Given the description of an element on the screen output the (x, y) to click on. 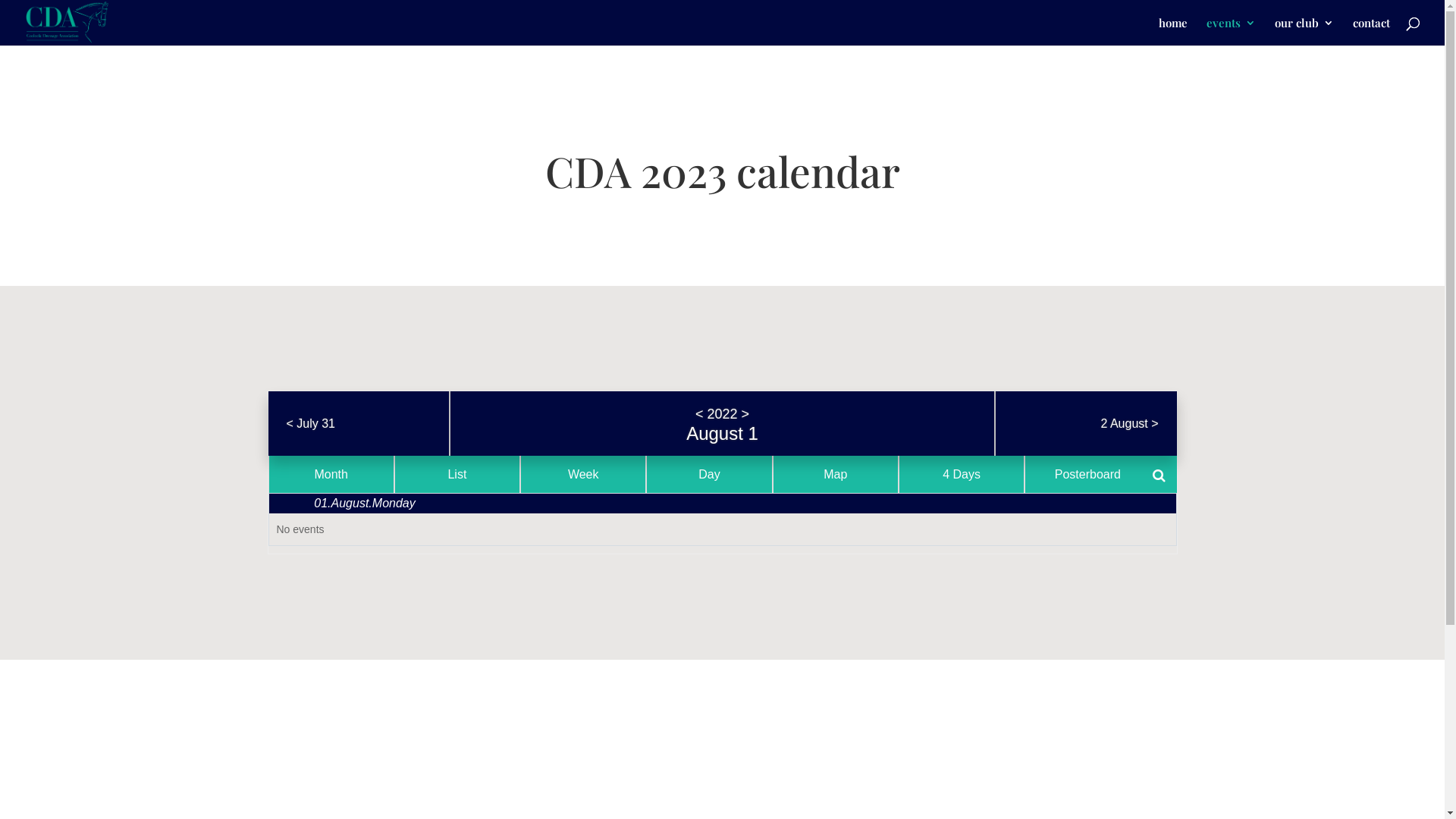
contact Element type: text (1371, 31)
our club Element type: text (1303, 31)
Map Element type: text (835, 473)
Posterboard Element type: text (1087, 473)
> Element type: text (745, 414)
events Element type: text (1230, 31)
< Element type: text (699, 414)
4 Days Element type: text (961, 473)
Day Element type: text (708, 473)
Week Element type: text (582, 473)
home Element type: text (1172, 31)
Month Element type: text (330, 473)
List Element type: text (457, 473)
2 August > Element type: text (1128, 423)
< July 31 Element type: text (309, 423)
